Given the description of an element on the screen output the (x, y) to click on. 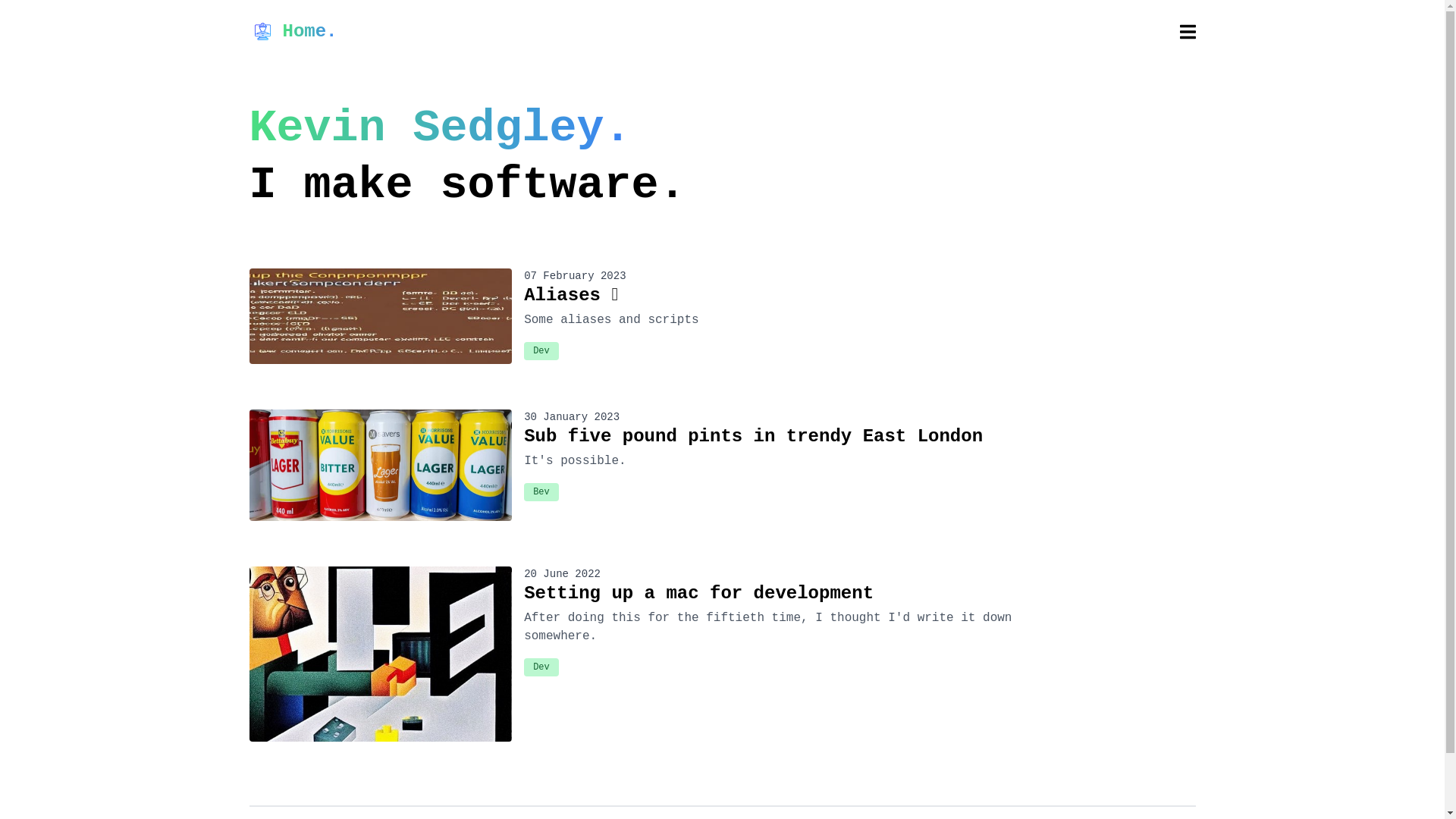
Dev Element type: text (541, 351)
Dev Element type: text (541, 667)
Home. Element type: text (292, 31)
Sub five pound pints in trendy East London Element type: text (780, 436)
Setting up a mac for development Element type: text (780, 593)
Bev Element type: text (541, 492)
